Given the description of an element on the screen output the (x, y) to click on. 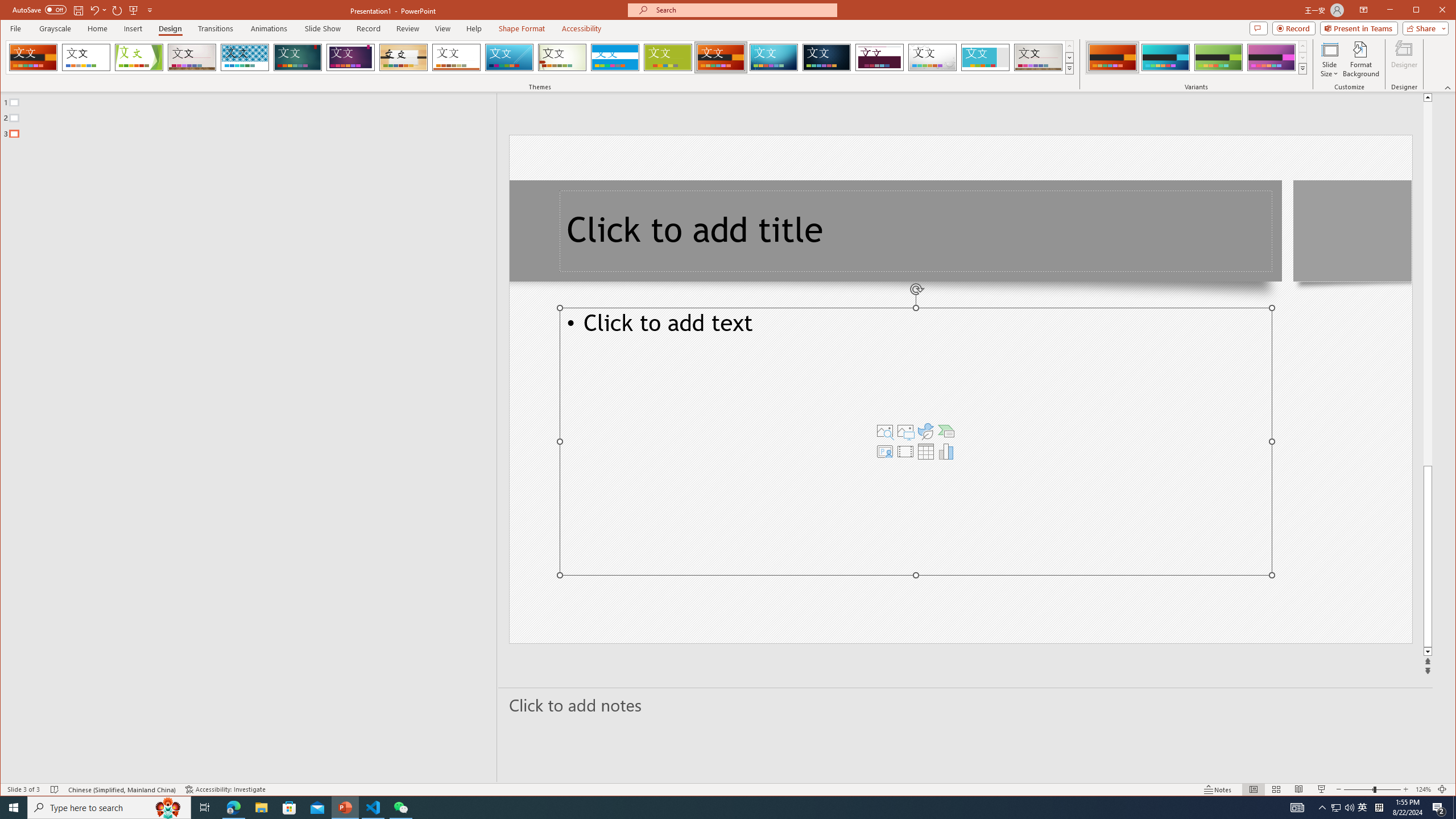
Ion Boardroom (350, 57)
Berlin (720, 57)
Variants (1302, 68)
Office Theme (85, 57)
Action Center, 2 new notifications (1439, 807)
